Given the description of an element on the screen output the (x, y) to click on. 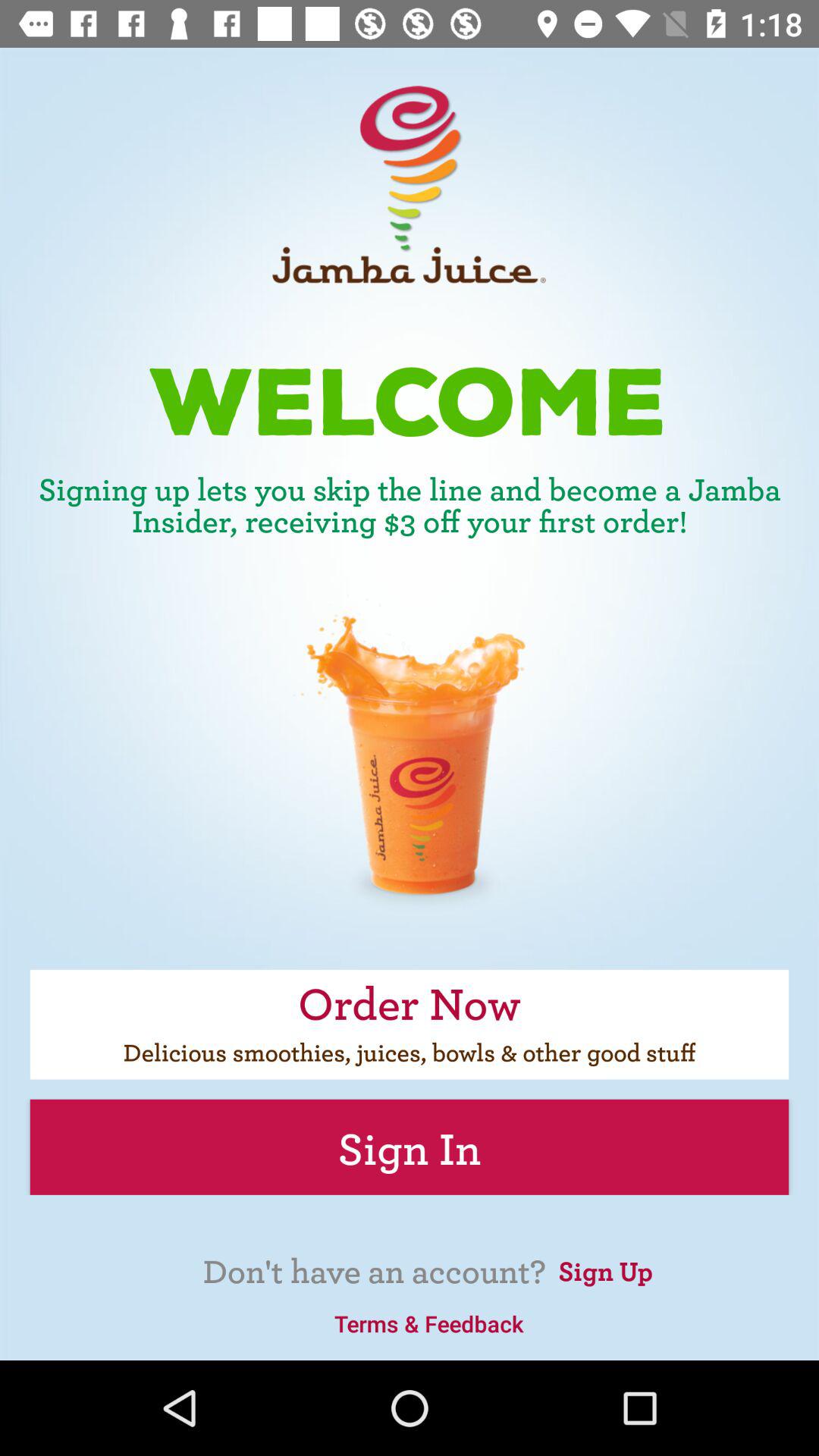
select the sign up icon (605, 1268)
